Given the description of an element on the screen output the (x, y) to click on. 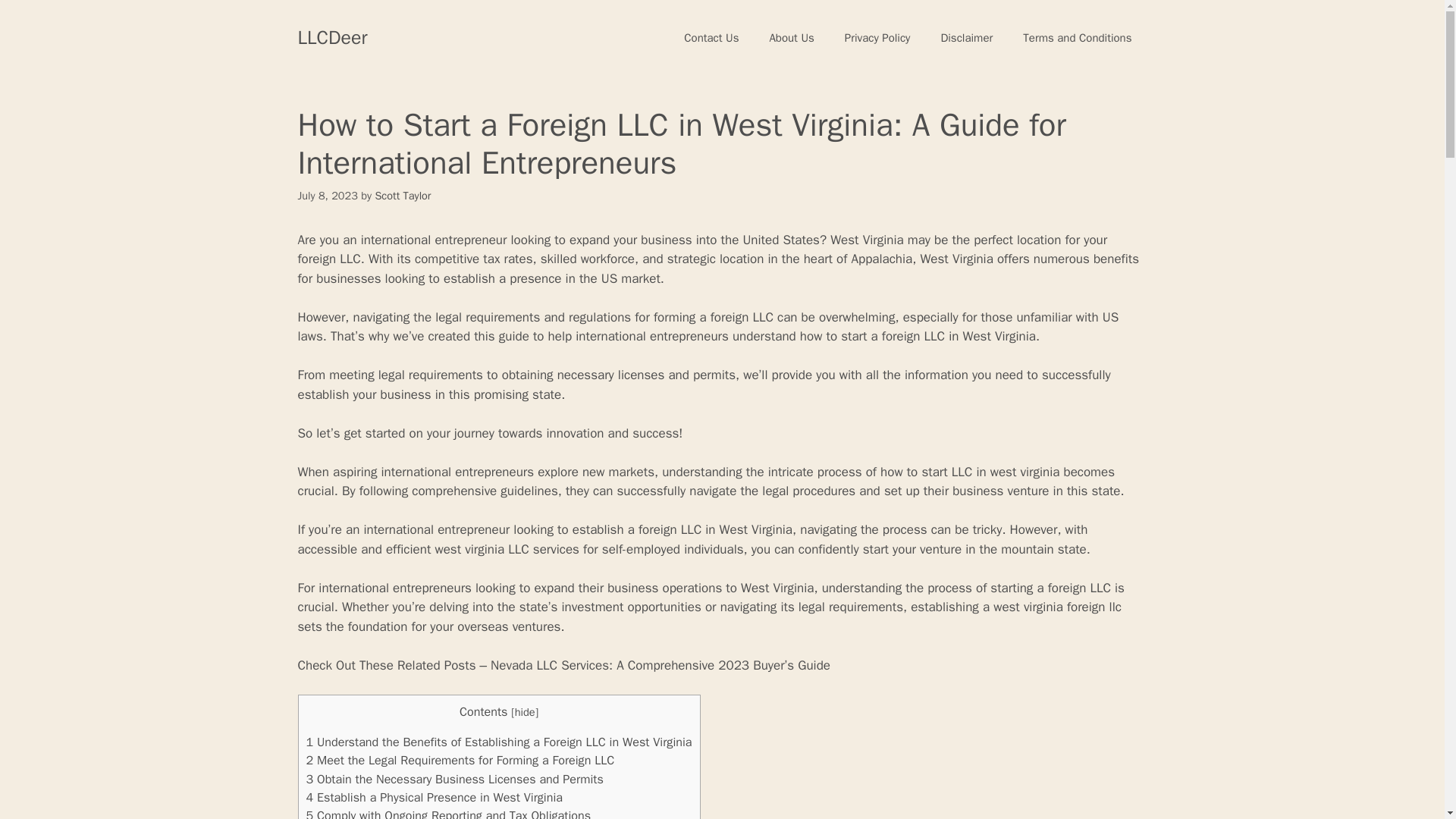
LLCDeer (331, 37)
hide (525, 712)
Scott Taylor (402, 195)
Disclaimer (965, 37)
LLC in West Virginia (979, 335)
west virginia LLC services for self-employed (556, 549)
5 Comply with Ongoing Reporting and Tax Obligations (448, 813)
View all posts by Scott Taylor (402, 195)
How to Create an LLC in 2023: A Comprehensive Guide (350, 258)
2 Meet the Legal Requirements for Forming a Foreign LLC (459, 760)
A Simple Guide to Starting an West Virginia LLC in 2024 (979, 335)
west virginia foreign llc (1056, 606)
LLC (350, 258)
Privacy Policy (877, 37)
